Given the description of an element on the screen output the (x, y) to click on. 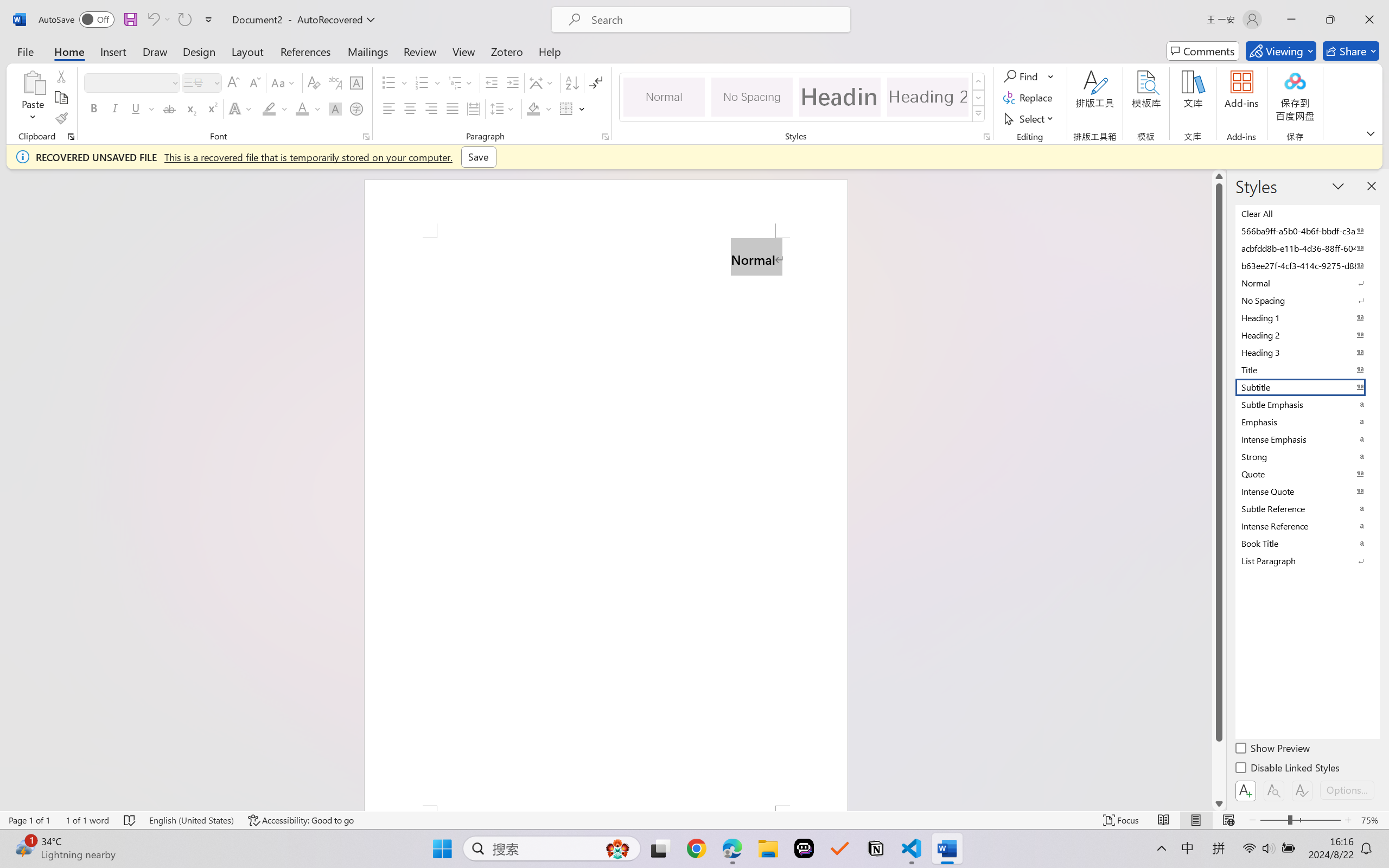
Page Number Page 1 of 1 (29, 819)
Shrink Font (253, 82)
Microsoft search (715, 19)
Justify (452, 108)
Zoom (1300, 819)
Clear Formatting (313, 82)
Zoom 75% (1372, 819)
